Given the description of an element on the screen output the (x, y) to click on. 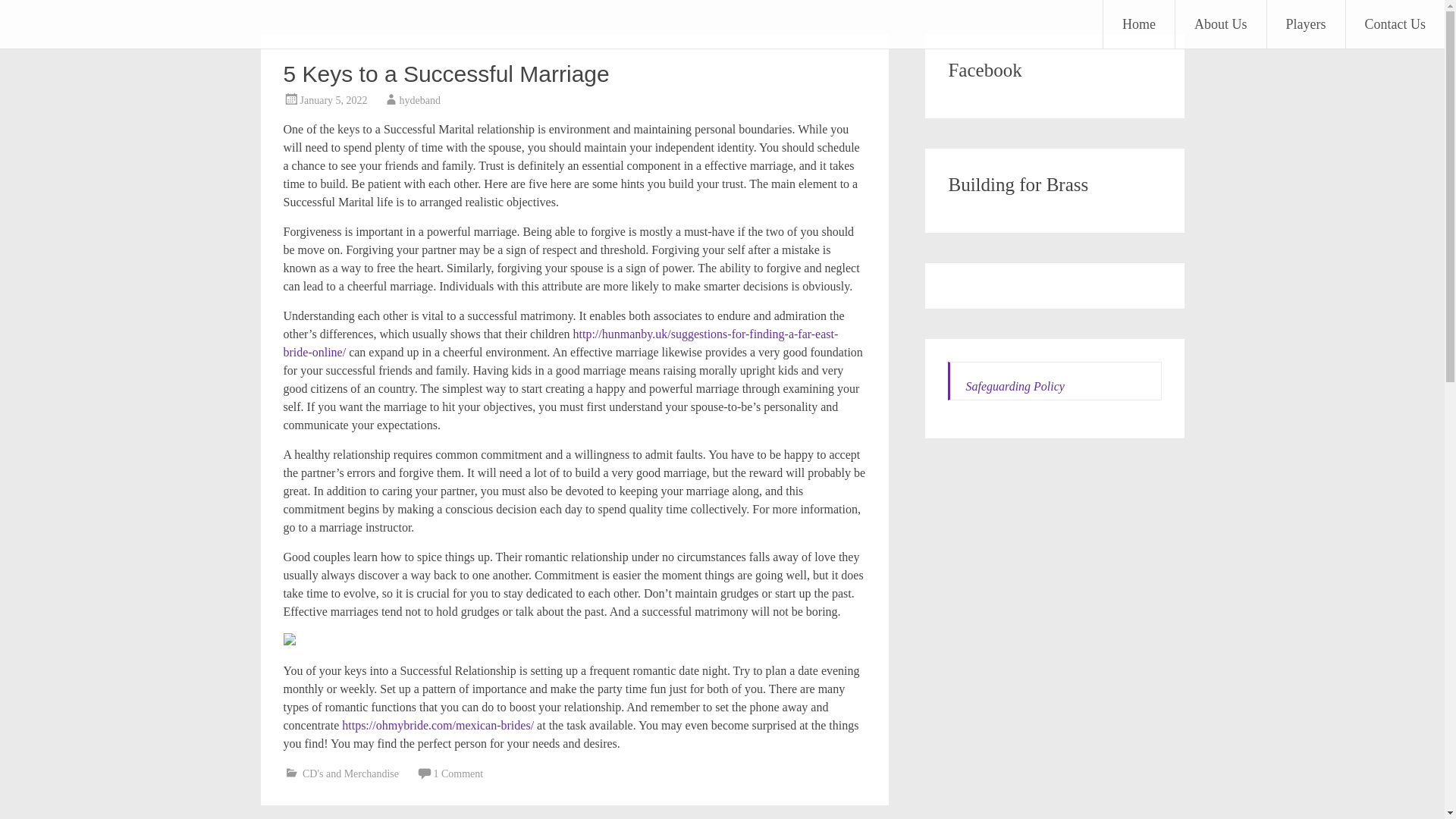
About Us (1220, 24)
Home (1138, 24)
Hyde Band (86, 23)
Hyde Band (86, 23)
1 Comment (457, 773)
January 5, 2022 (333, 100)
CD's and Merchandise (350, 773)
hydeband (419, 100)
Players (1304, 24)
Safeguarding Policy (1014, 386)
